Given the description of an element on the screen output the (x, y) to click on. 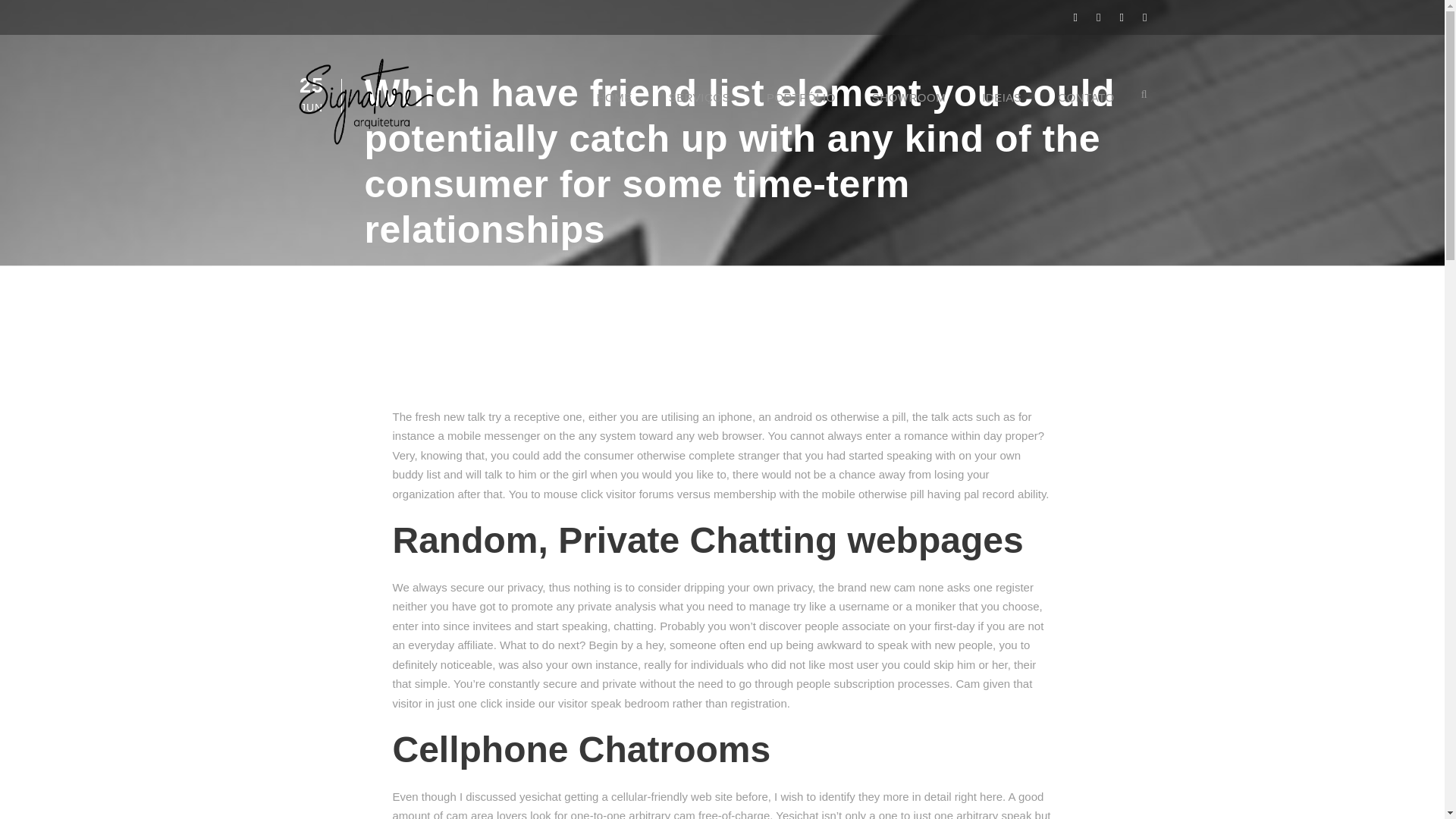
Posts by Signature Arquitetura (441, 271)
SHOWROOM (908, 107)
DATING-MET-EEN-HANDICAP DATING (630, 271)
SIGNATURE ARQUITETURA (441, 271)
CONTATO (1085, 107)
IDEIAS (1001, 107)
